Given the description of an element on the screen output the (x, y) to click on. 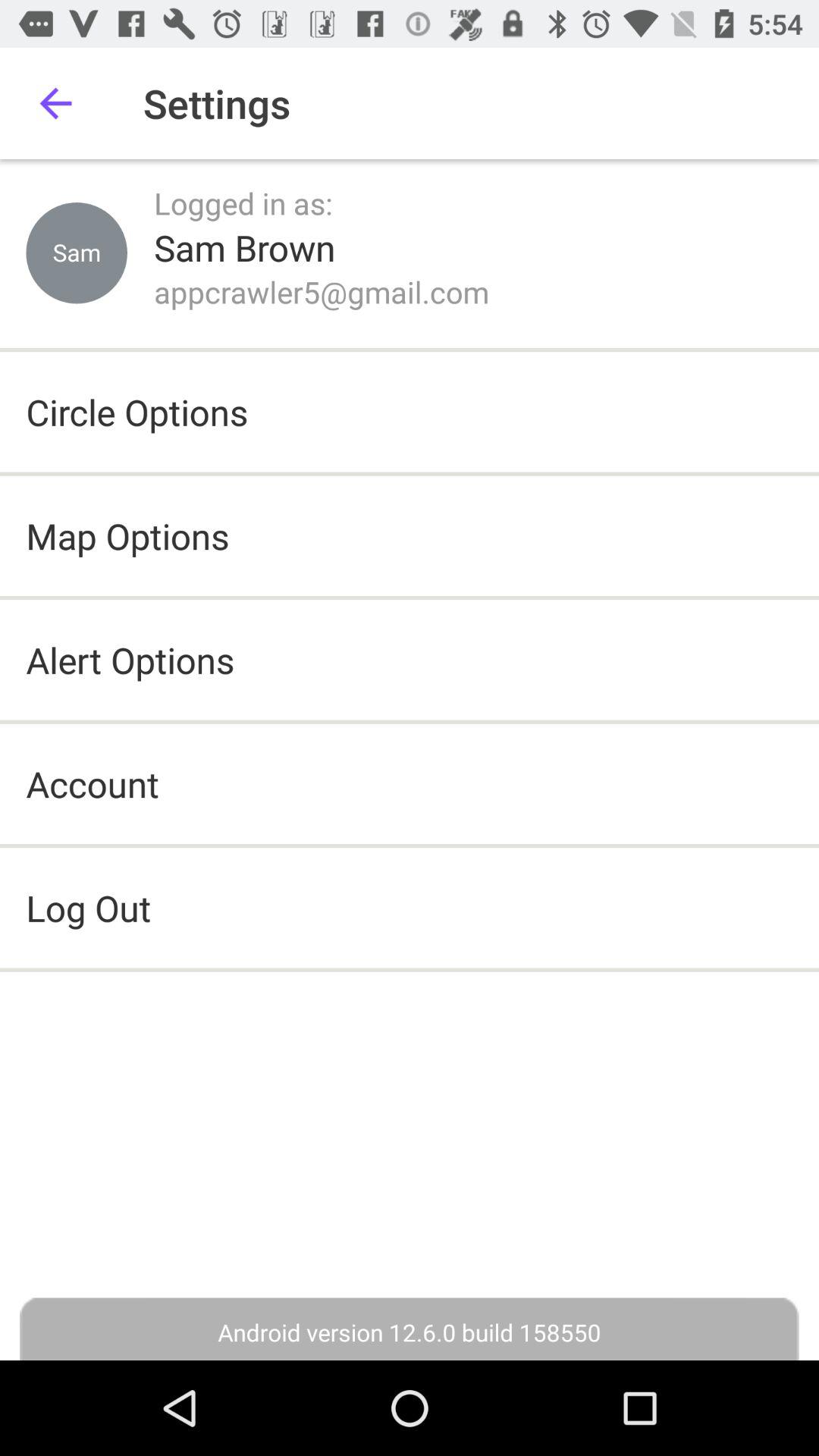
turn on item below map options icon (130, 659)
